Given the description of an element on the screen output the (x, y) to click on. 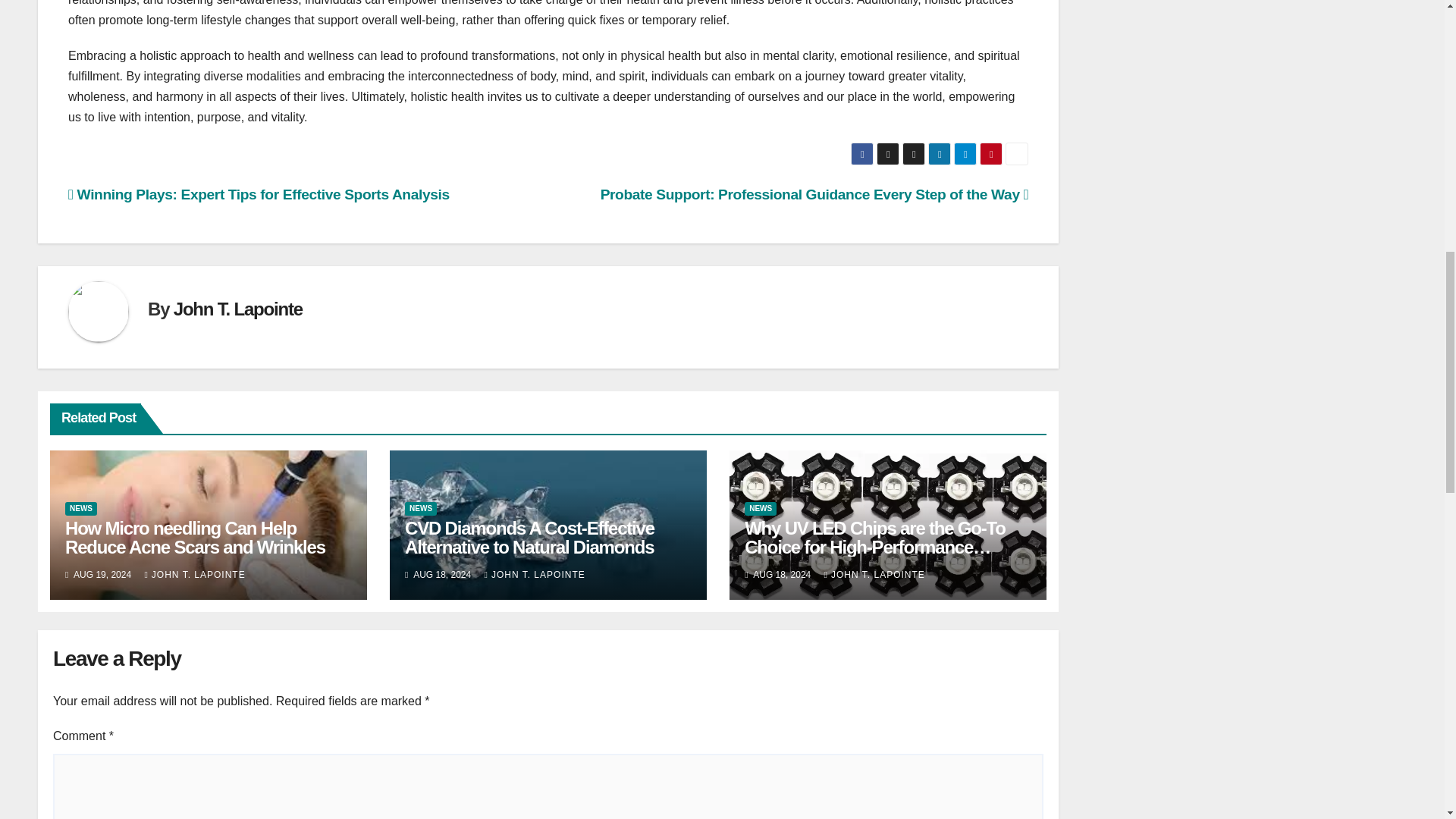
Probate Support: Professional Guidance Every Step of the Way (814, 194)
How Micro needling Can Help Reduce Acne Scars and Wrinkles (194, 537)
Winning Plays: Expert Tips for Effective Sports Analysis (258, 194)
John T. Lapointe (237, 308)
NEWS (81, 508)
JOHN T. LAPOINTE (194, 574)
NEWS (420, 508)
